Given the description of an element on the screen output the (x, y) to click on. 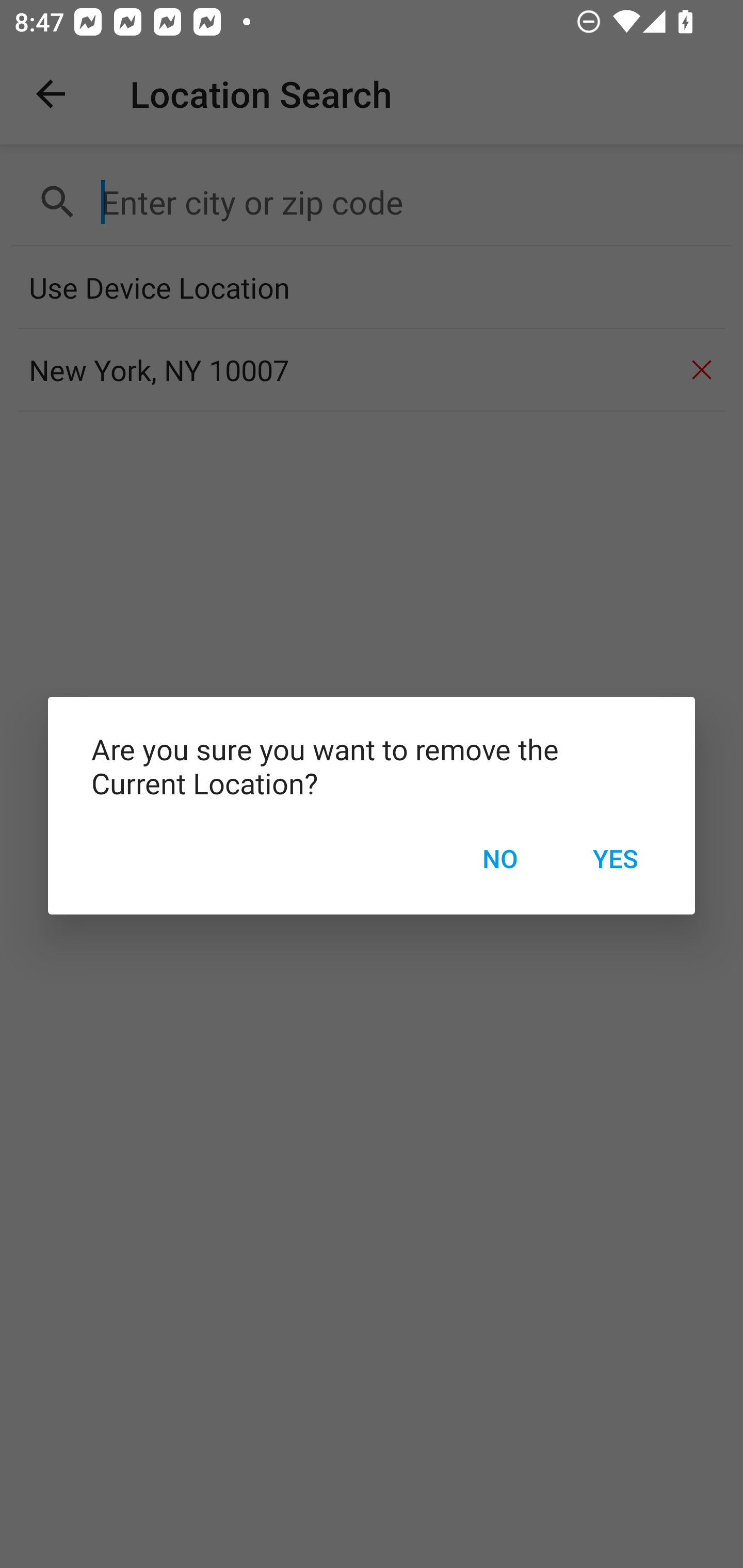
NO (499, 858)
YES (615, 858)
